Given the description of an element on the screen output the (x, y) to click on. 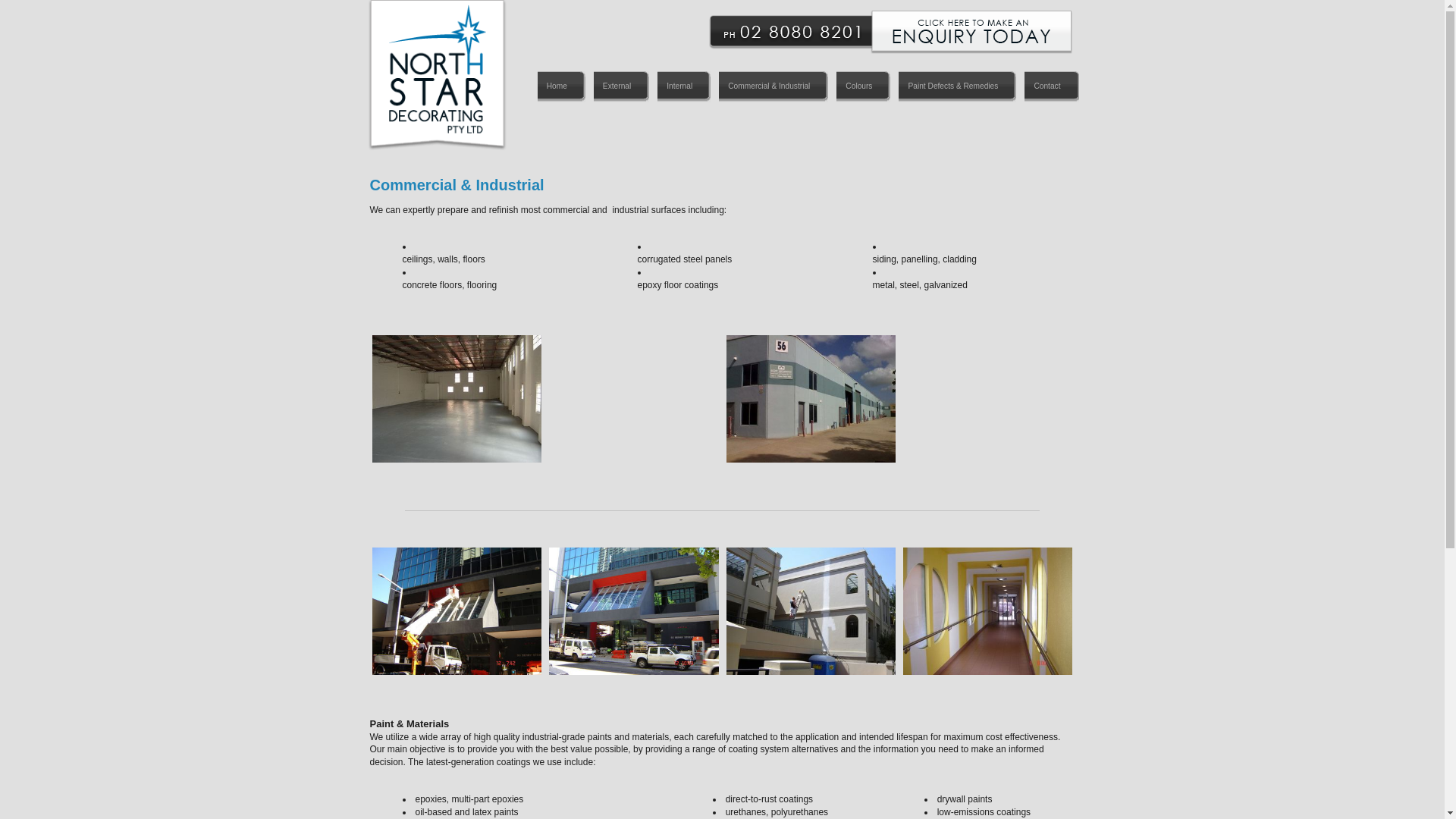
Contact Element type: text (1050, 87)
Paint Defects & Remedies Element type: text (956, 87)
Internal Element type: text (683, 87)
Commercial & Industrial Element type: text (772, 87)
External Element type: text (620, 87)
Home Element type: text (561, 87)
Colours Element type: text (862, 87)
